Given the description of an element on the screen output the (x, y) to click on. 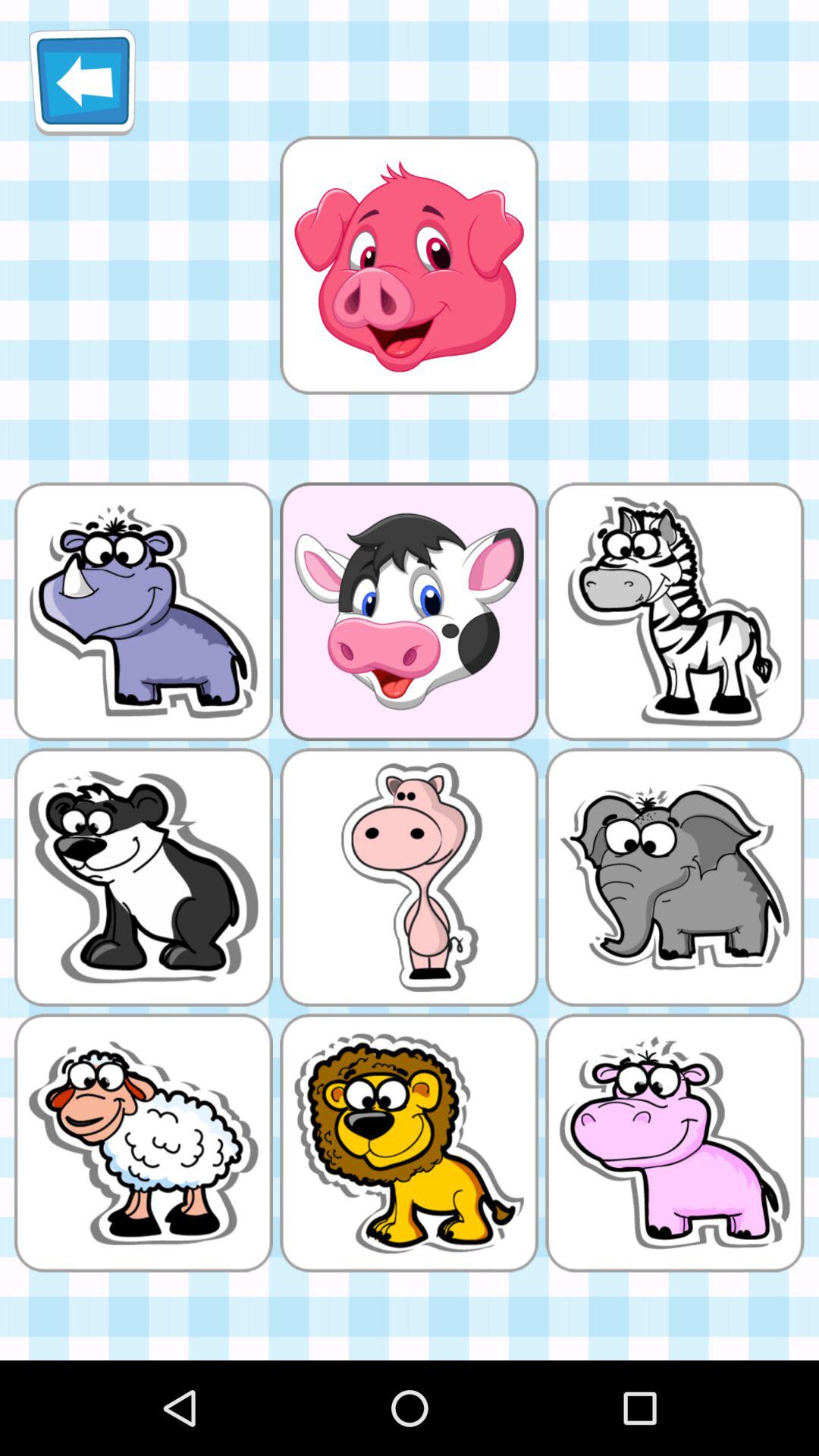
return to previous screen (82, 82)
